Given the description of an element on the screen output the (x, y) to click on. 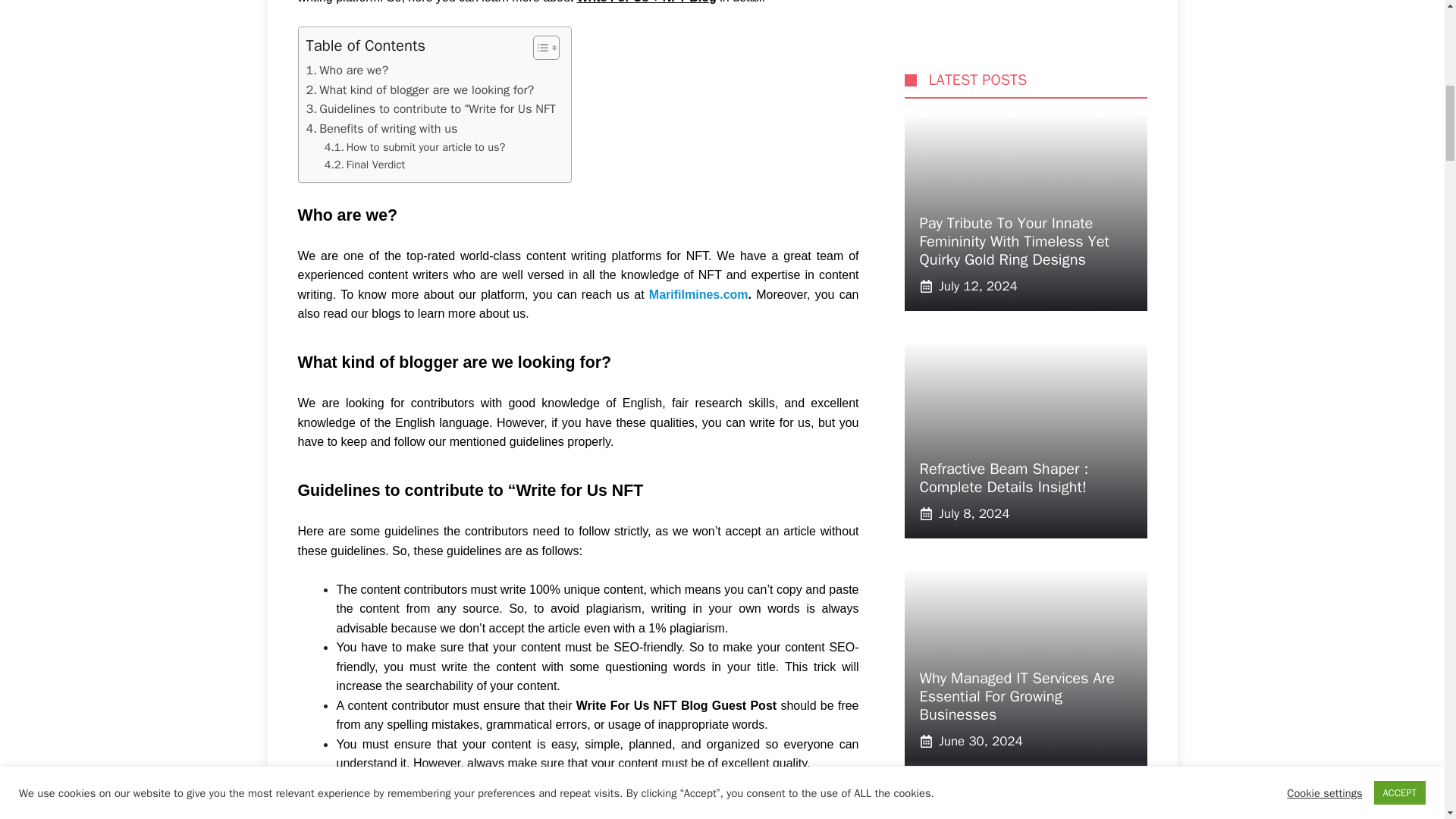
What kind of blogger are we looking for? (419, 89)
Benefits of writing with us (381, 128)
How to submit your article to us? (414, 147)
Who are we? (346, 70)
Scroll back to top (1406, 720)
Final Verdict (364, 164)
